Given the description of an element on the screen output the (x, y) to click on. 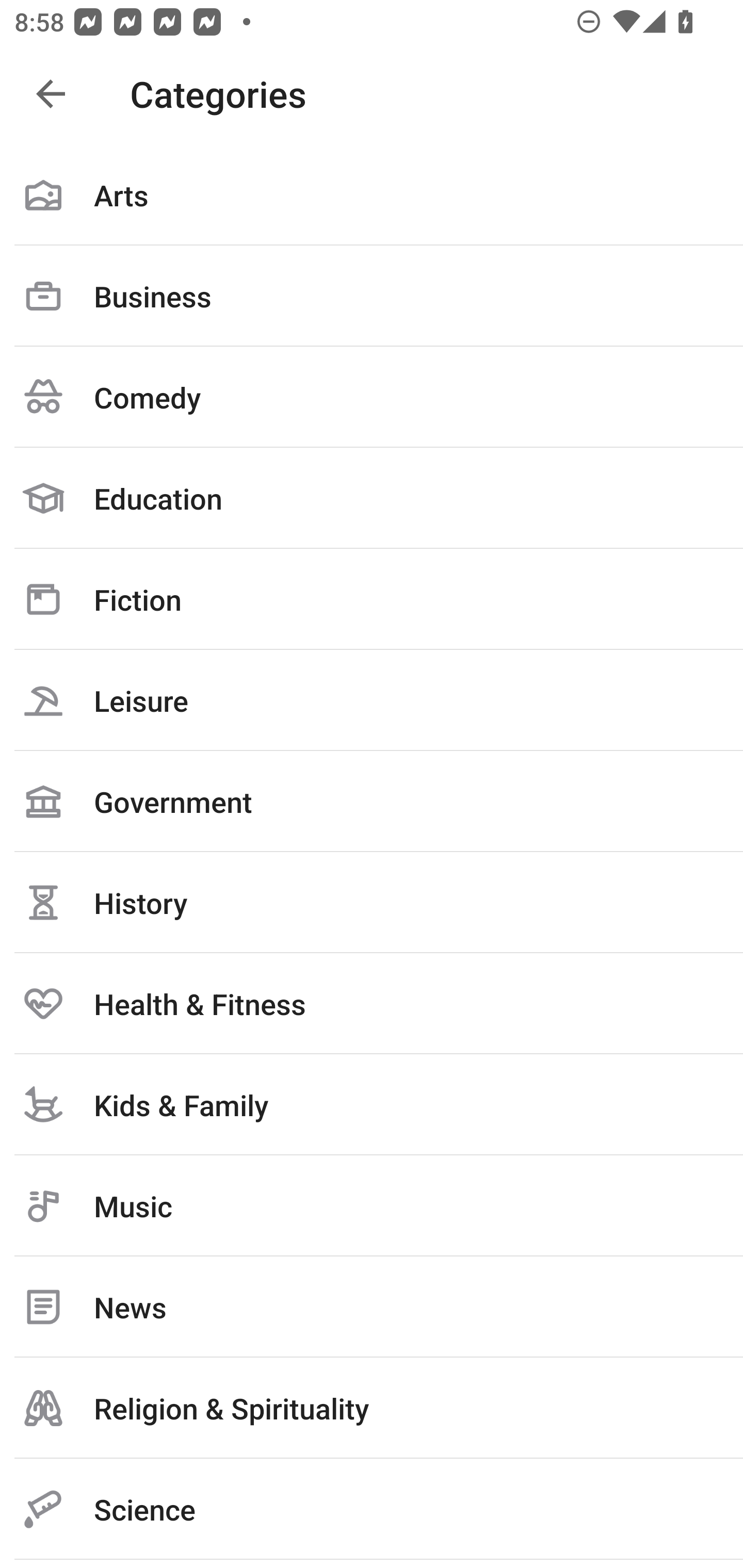
Navigate up (50, 93)
Arts (371, 195)
Business (371, 296)
Comedy (371, 397)
Education (371, 498)
Fiction (371, 598)
Leisure (371, 700)
Government (371, 801)
History (371, 902)
Health & Fitness (371, 1003)
Kids & Family (371, 1104)
Music (371, 1205)
News (371, 1306)
Religion & Spirituality (371, 1407)
Science (371, 1509)
